Given the description of an element on the screen output the (x, y) to click on. 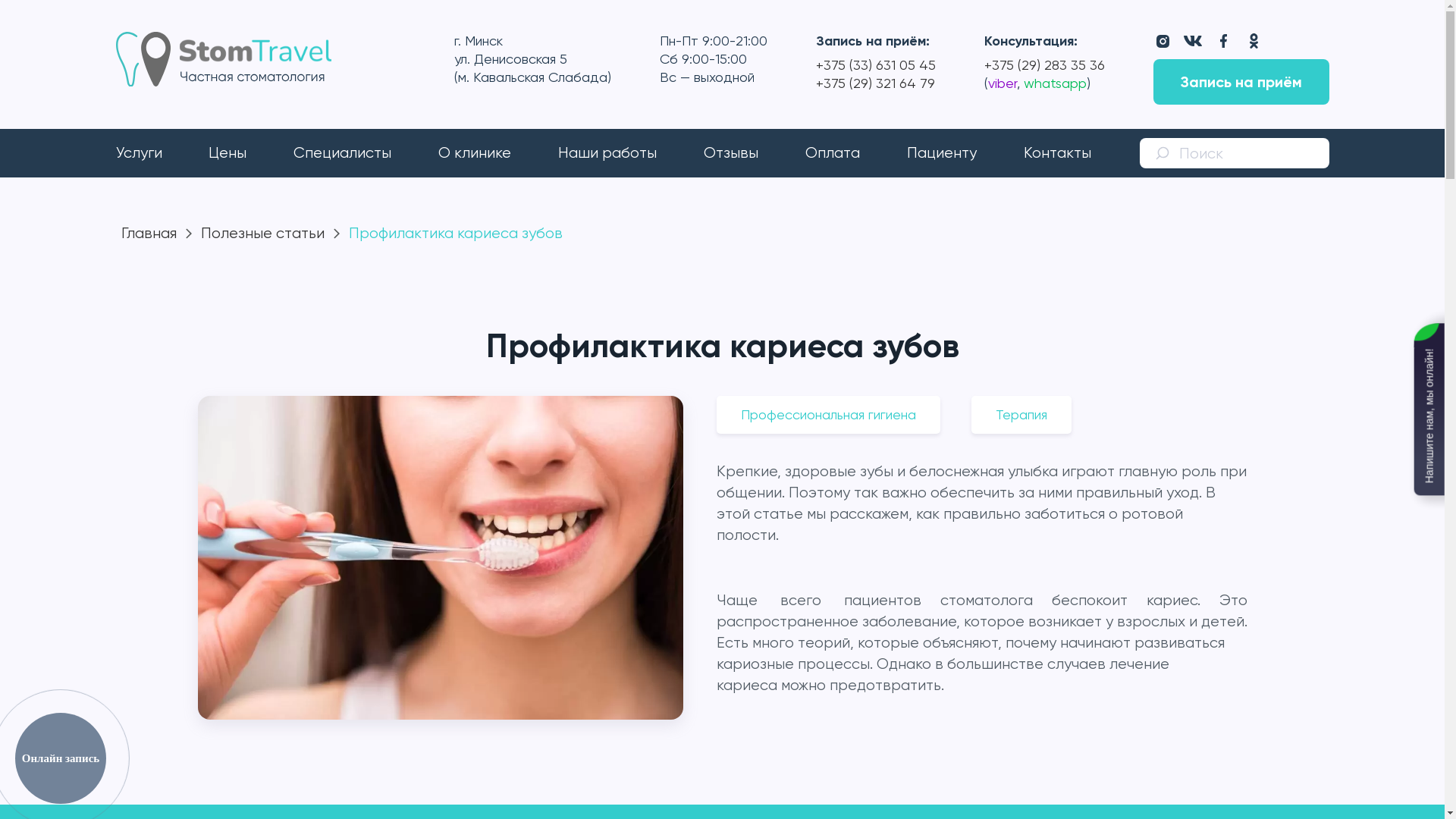
+375 (29) 283 35 36 Element type: text (1044, 64)
whatsapp Element type: text (1052, 83)
+375 (29) 321 64 79 Element type: text (875, 83)
+375 (33) 631 05 45 Element type: text (875, 64)
viber Element type: text (1001, 83)
